Given the description of an element on the screen output the (x, y) to click on. 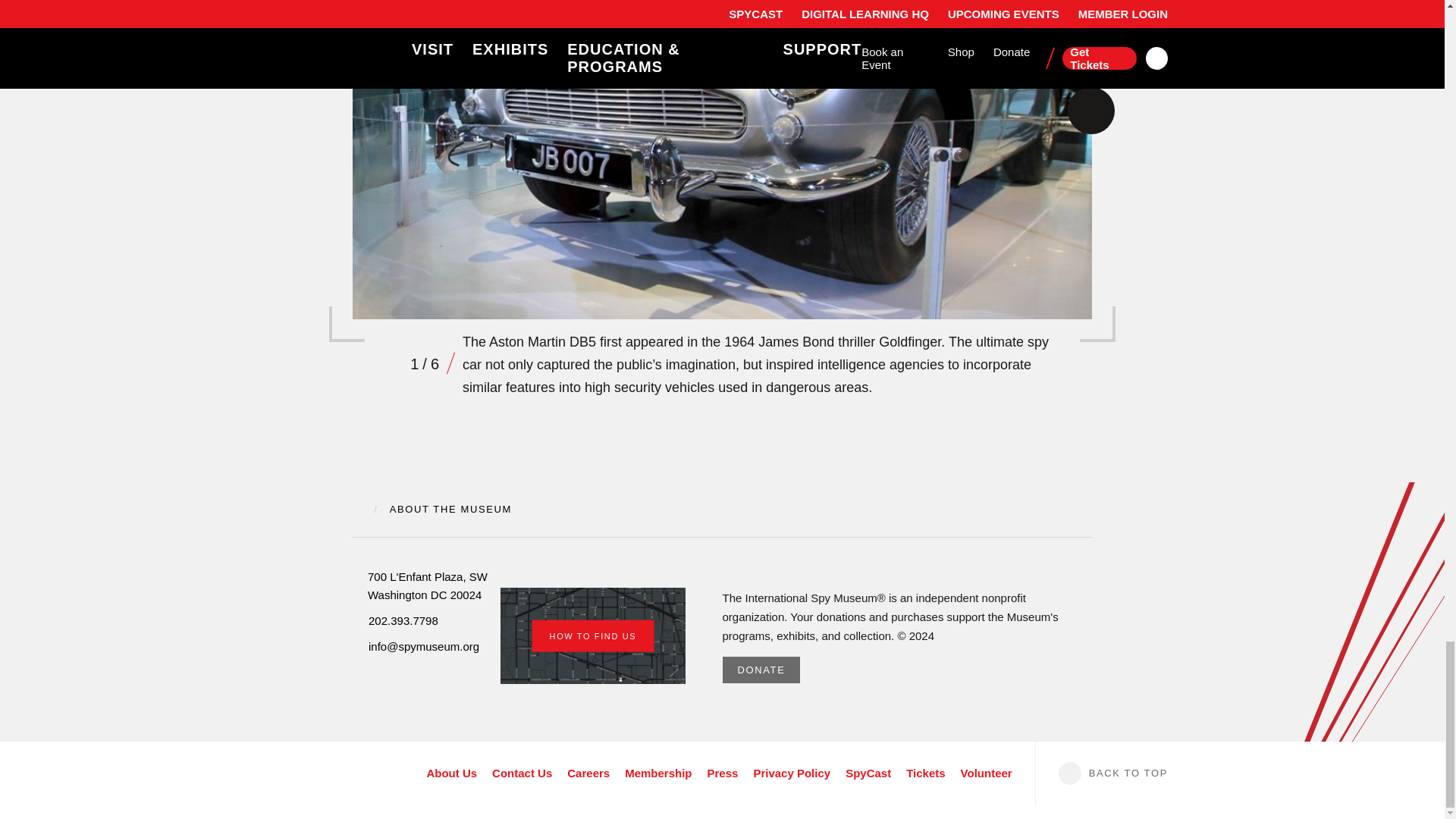
BACK TO TOP (1101, 773)
